Given the description of an element on the screen output the (x, y) to click on. 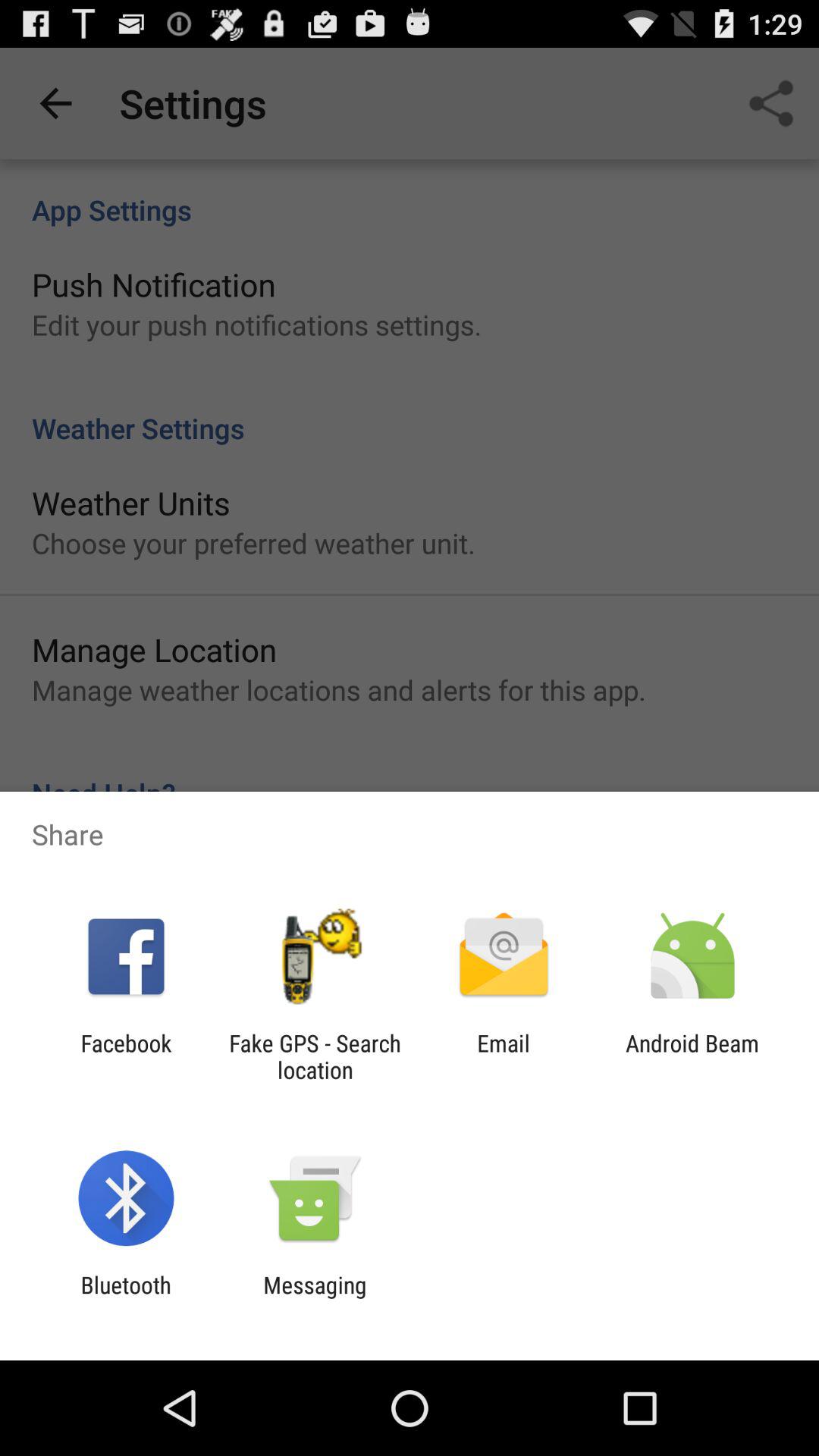
turn off the icon to the left of messaging icon (125, 1298)
